Given the description of an element on the screen output the (x, y) to click on. 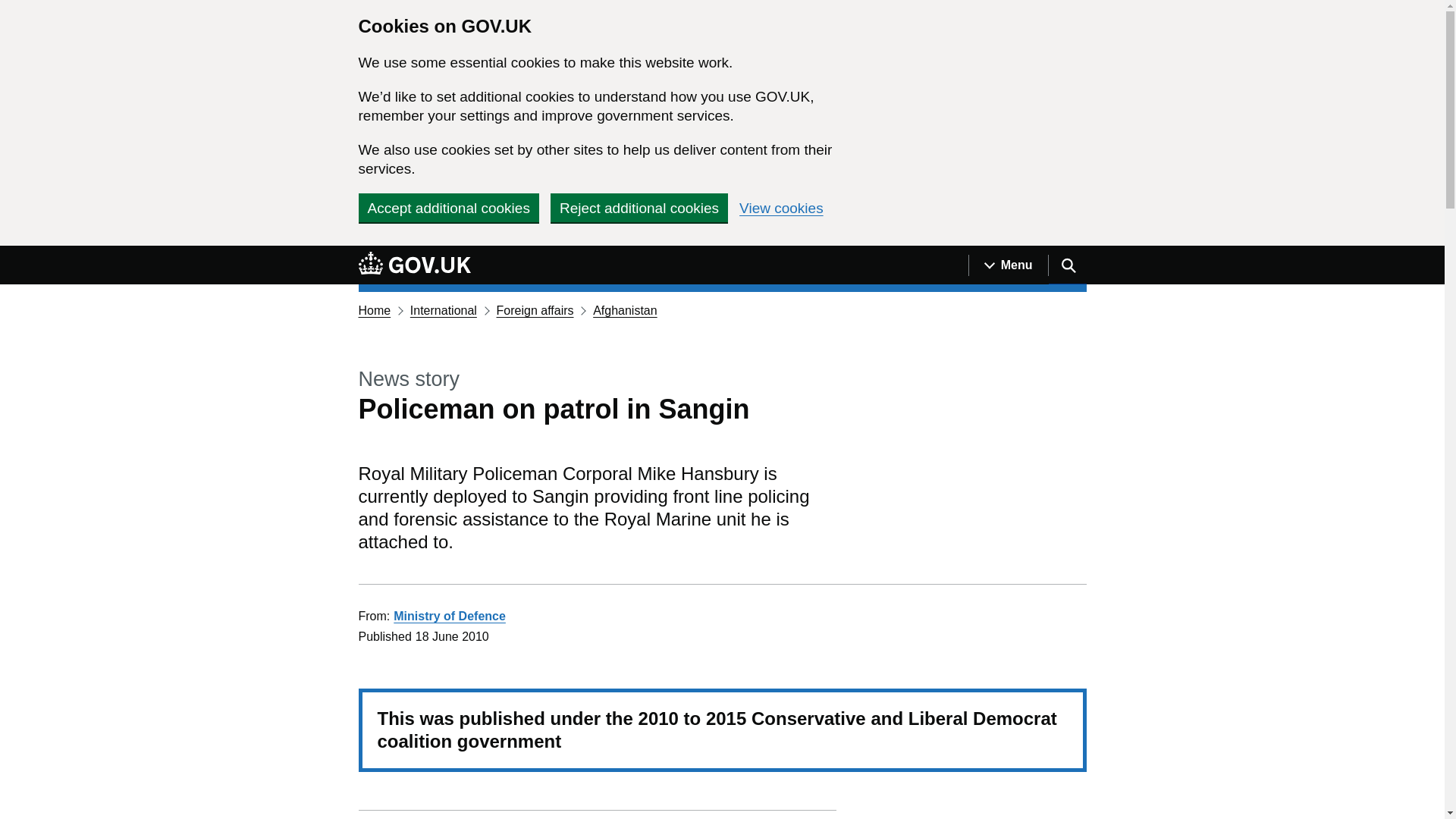
GOV.UK (414, 264)
Foreign affairs (534, 309)
Reject additional cookies (639, 207)
Search GOV.UK (1067, 265)
Skip to main content (11, 254)
GOV.UK (414, 262)
View cookies (781, 207)
Afghanistan (625, 309)
Ministry of Defence (449, 615)
International (443, 309)
Accept additional cookies (448, 207)
Home (374, 309)
Menu (1008, 265)
